Given the description of an element on the screen output the (x, y) to click on. 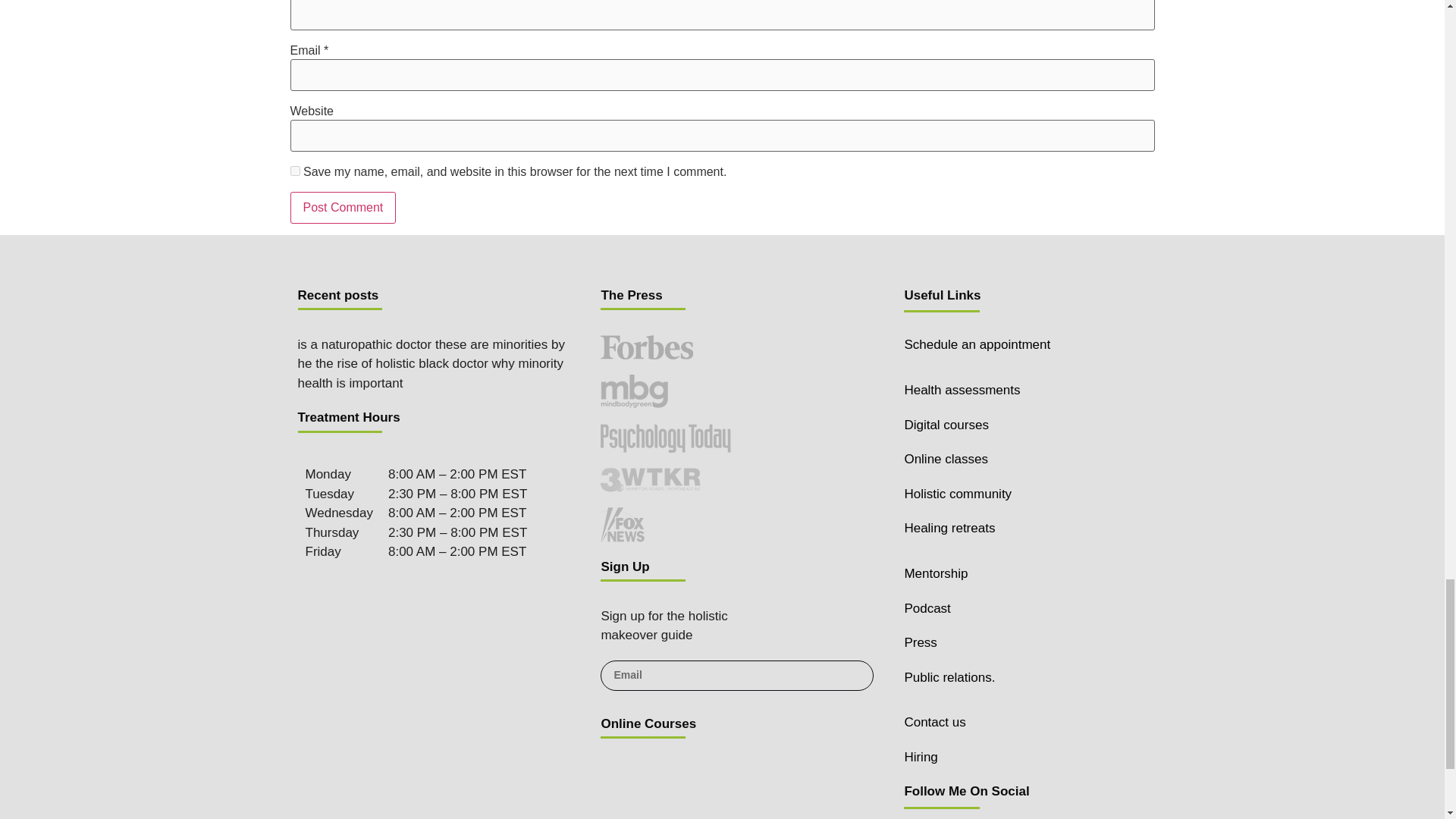
Healing retreats (949, 527)
Schedule an appointment (976, 344)
Podcast (927, 608)
Online classes (946, 459)
yes (294, 171)
Digital courses (946, 424)
Online Courses (647, 723)
Health assessments (962, 390)
Mentorship (936, 573)
Holistic community (957, 493)
Post Comment (342, 207)
Press (920, 642)
Post Comment (342, 207)
